Given the description of an element on the screen output the (x, y) to click on. 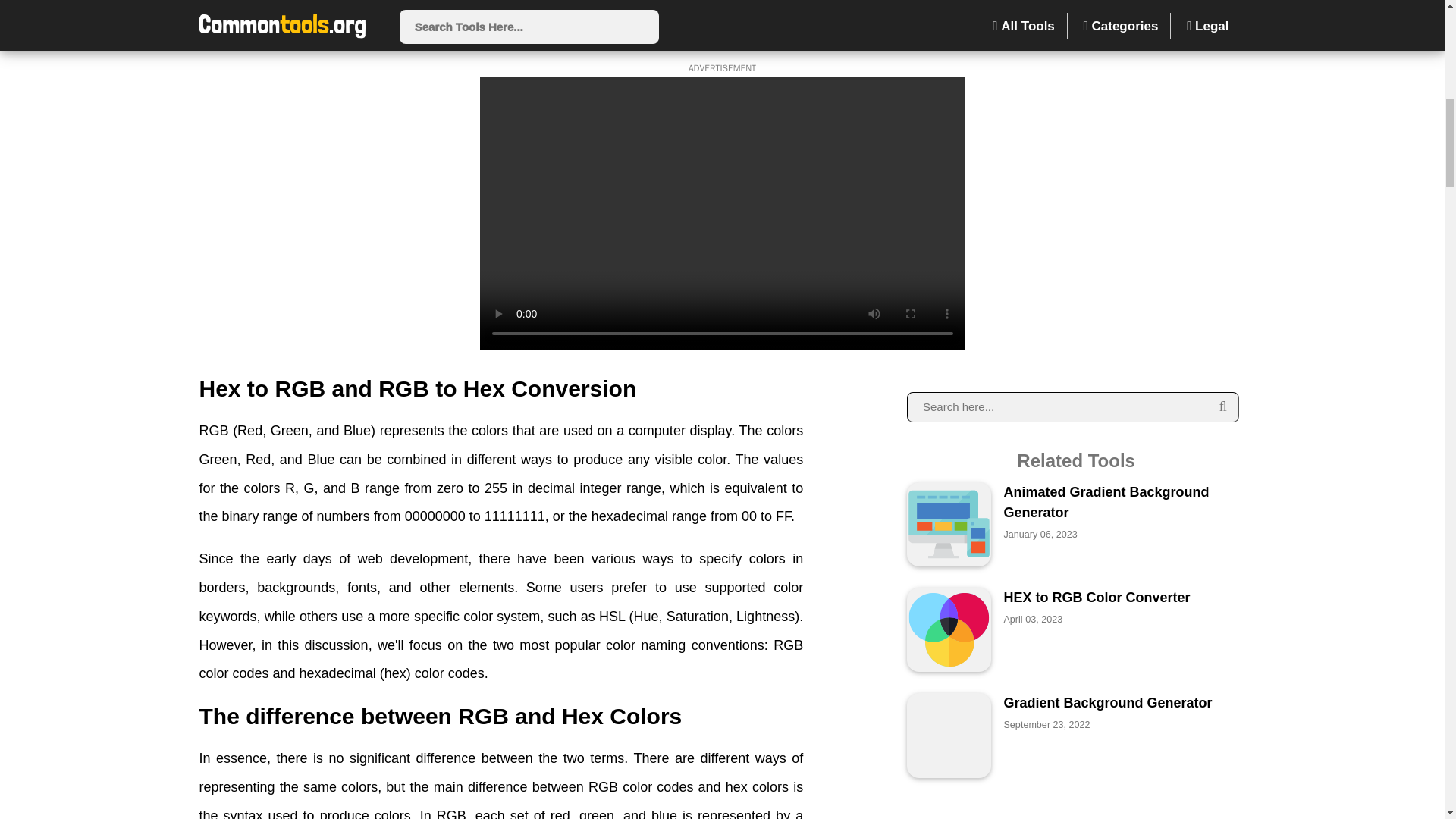
Advertisement (721, 20)
